Given the description of an element on the screen output the (x, y) to click on. 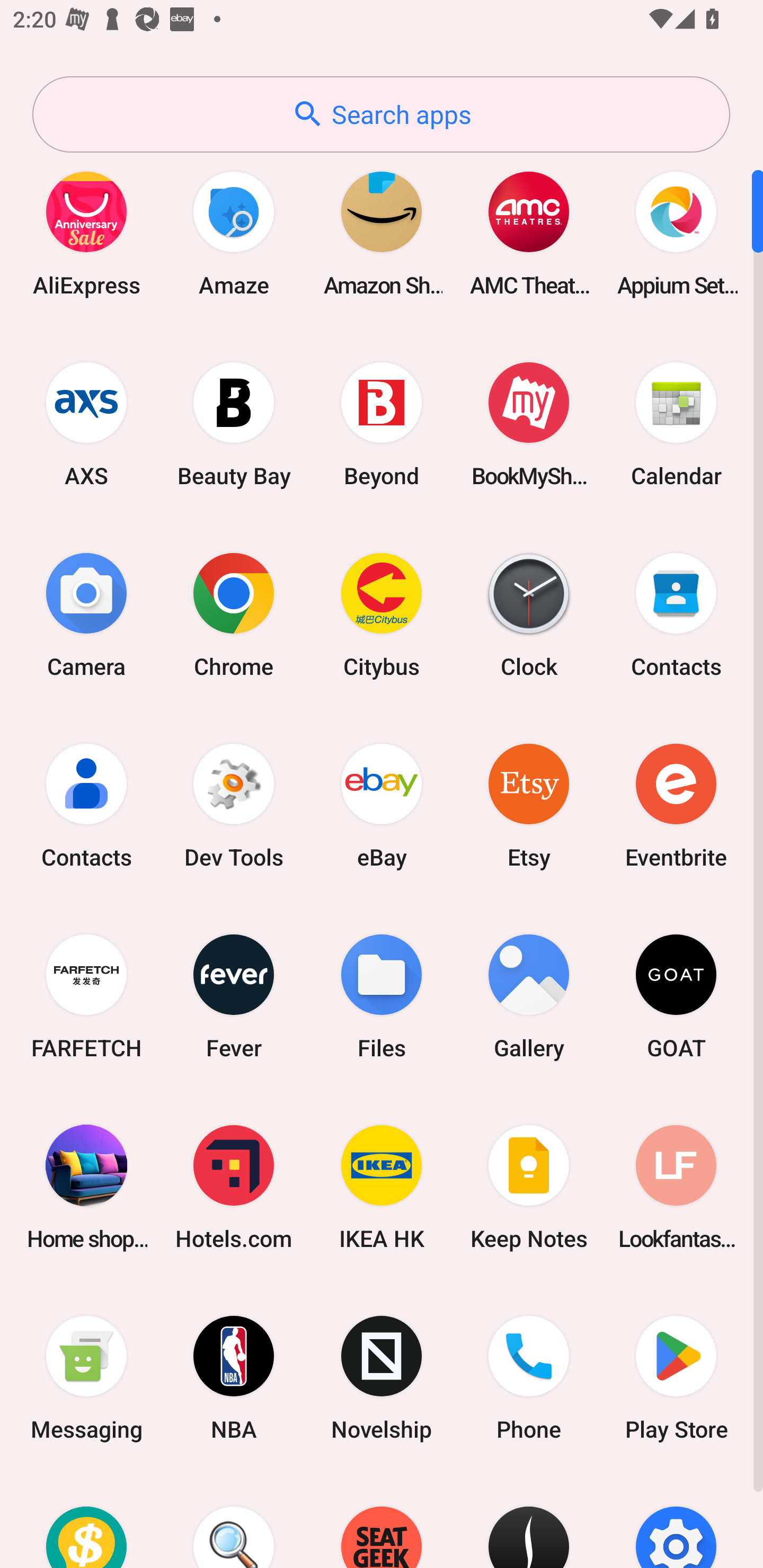
  Search apps (381, 114)
AliExpress (86, 233)
Amaze (233, 233)
Amazon Shopping (381, 233)
AMC Theatres (528, 233)
Appium Settings (676, 233)
AXS (86, 424)
Beauty Bay (233, 424)
Beyond (381, 424)
BookMyShow (528, 424)
Calendar (676, 424)
Camera (86, 614)
Chrome (233, 614)
Citybus (381, 614)
Clock (528, 614)
Contacts (676, 614)
Contacts (86, 805)
Dev Tools (233, 805)
eBay (381, 805)
Etsy (528, 805)
Eventbrite (676, 805)
FARFETCH (86, 996)
Fever (233, 996)
Files (381, 996)
Gallery (528, 996)
GOAT (676, 996)
Home shopping (86, 1186)
Hotels.com (233, 1186)
IKEA HK (381, 1186)
Keep Notes (528, 1186)
Lookfantastic (676, 1186)
Messaging (86, 1377)
NBA (233, 1377)
Novelship (381, 1377)
Phone (528, 1377)
Play Store (676, 1377)
